Given the description of an element on the screen output the (x, y) to click on. 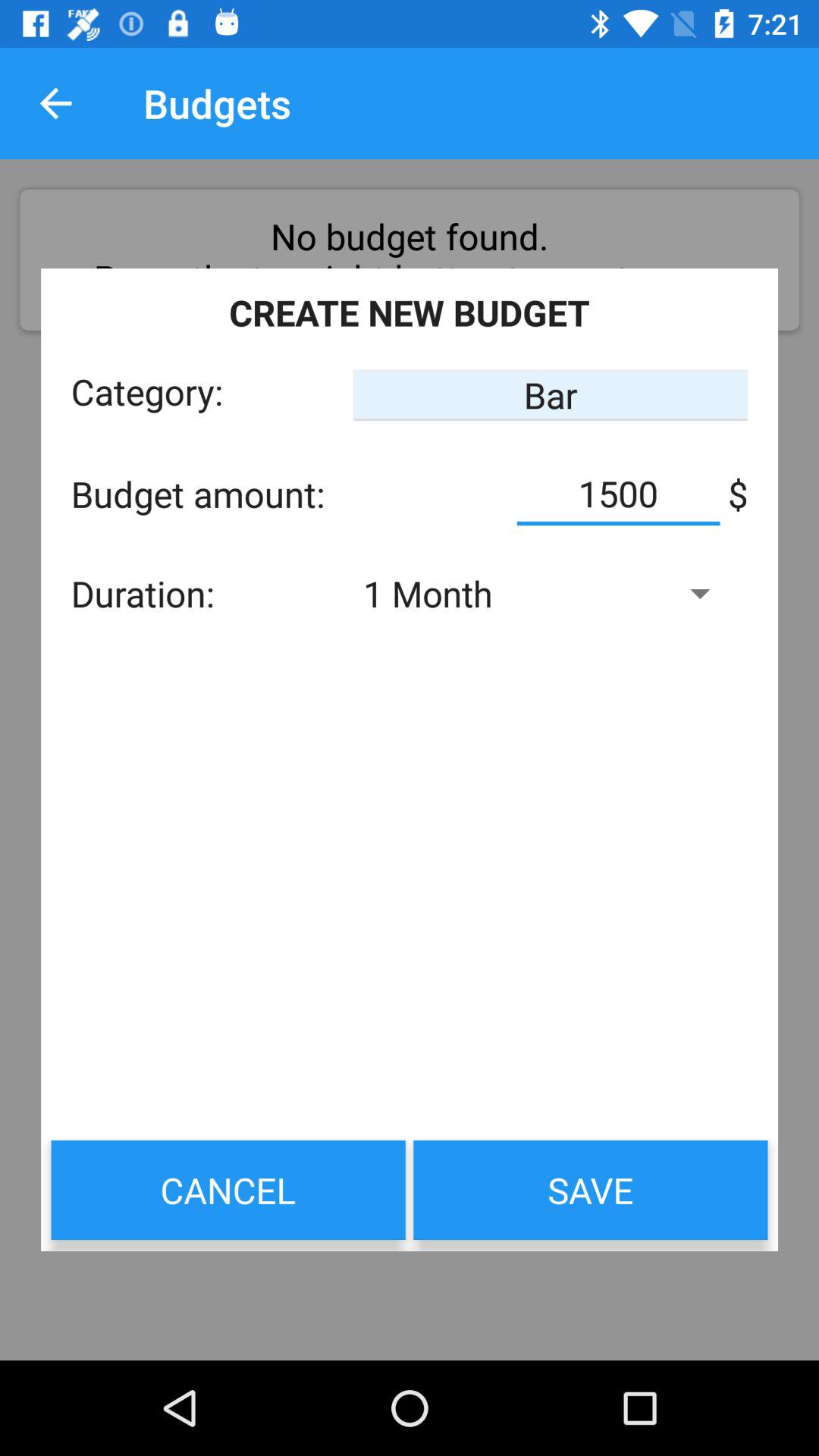
select the text beside category (550, 395)
click on save at the bottom right corner (590, 1190)
select the button which is left side of the save button (228, 1190)
